Given the description of an element on the screen output the (x, y) to click on. 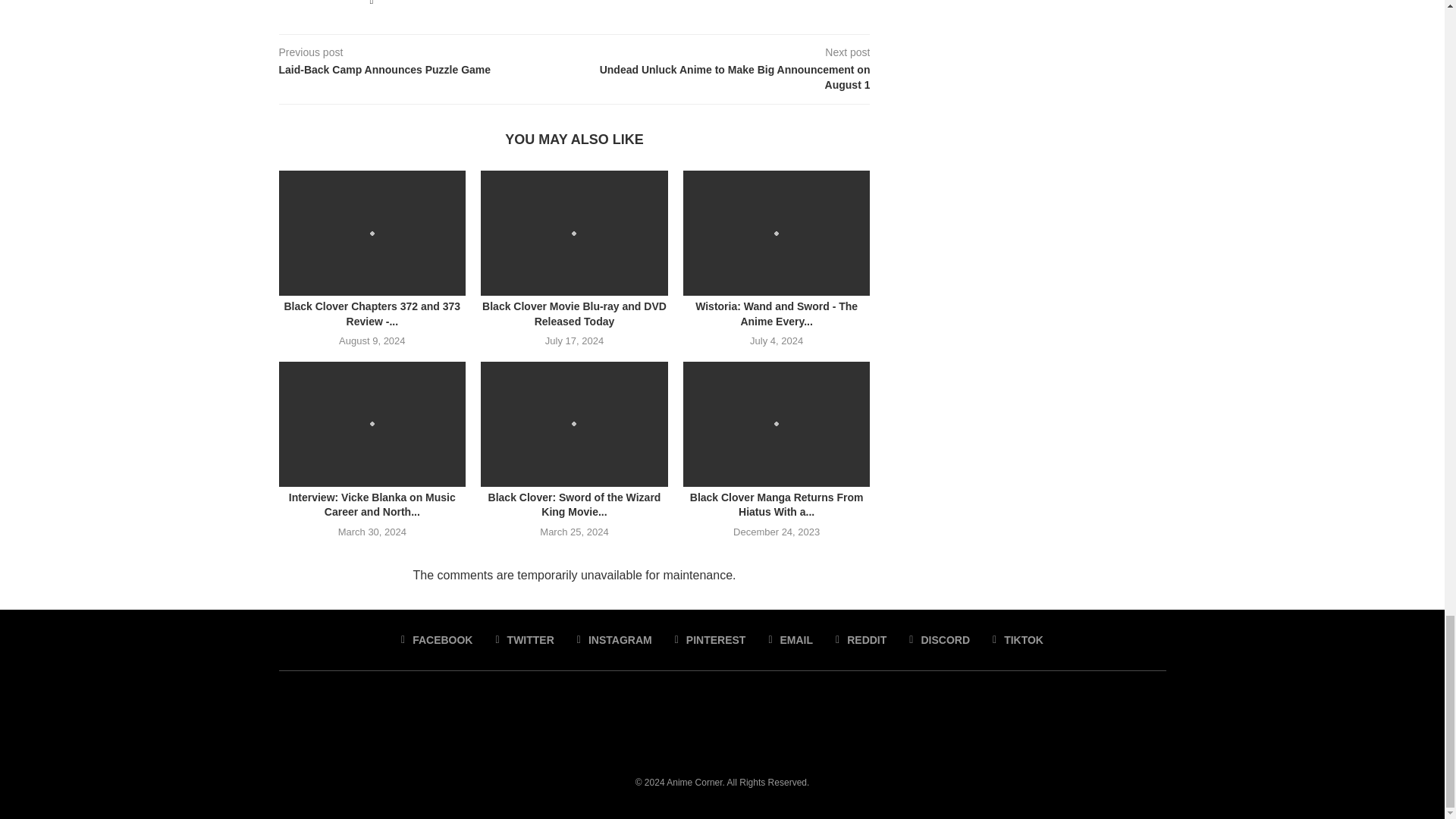
Black Clover Movie Blu-ray and DVD Released Today (574, 232)
